Given the description of an element on the screen output the (x, y) to click on. 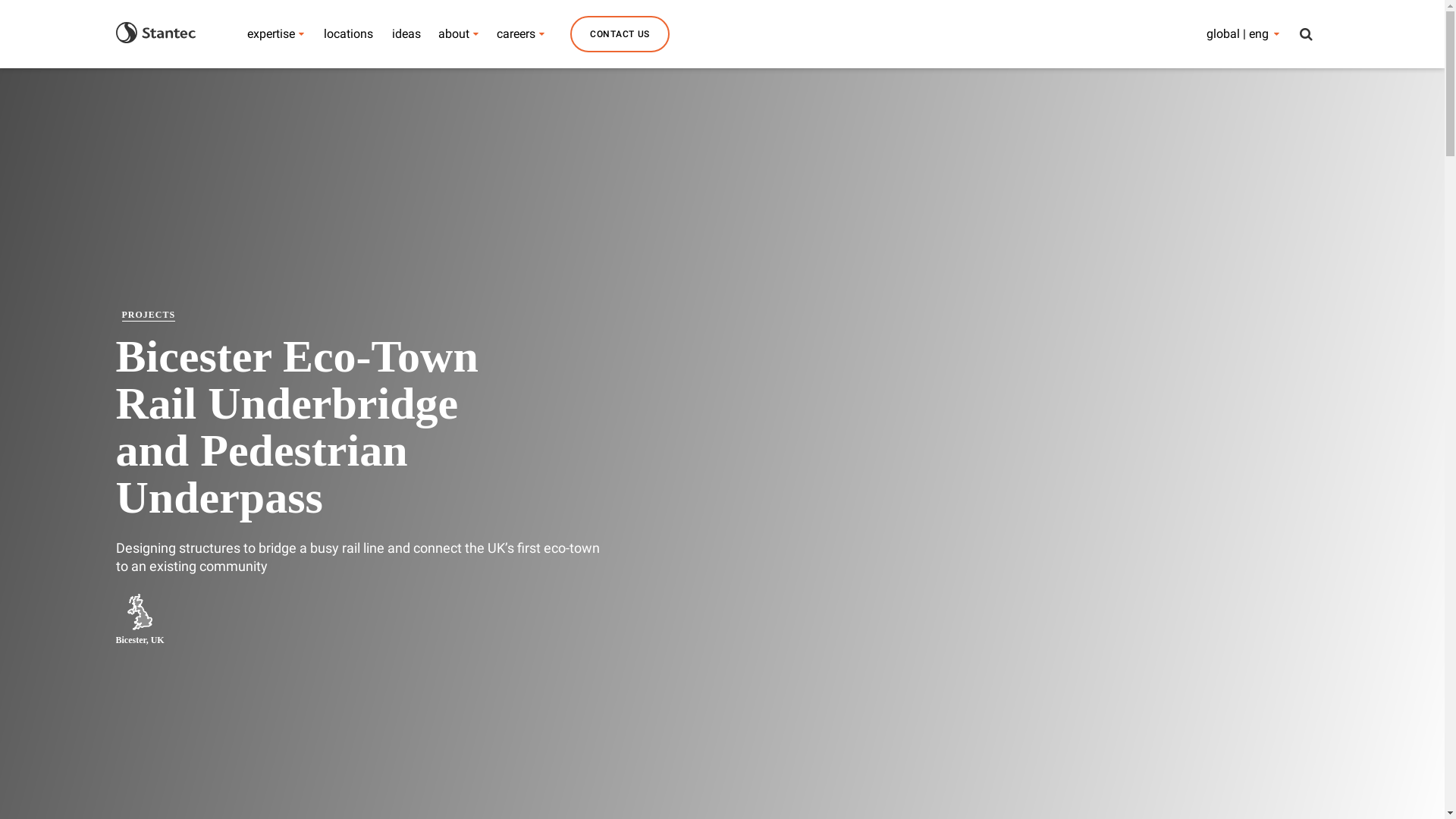
expertise (270, 33)
locations (348, 33)
